Given the description of an element on the screen output the (x, y) to click on. 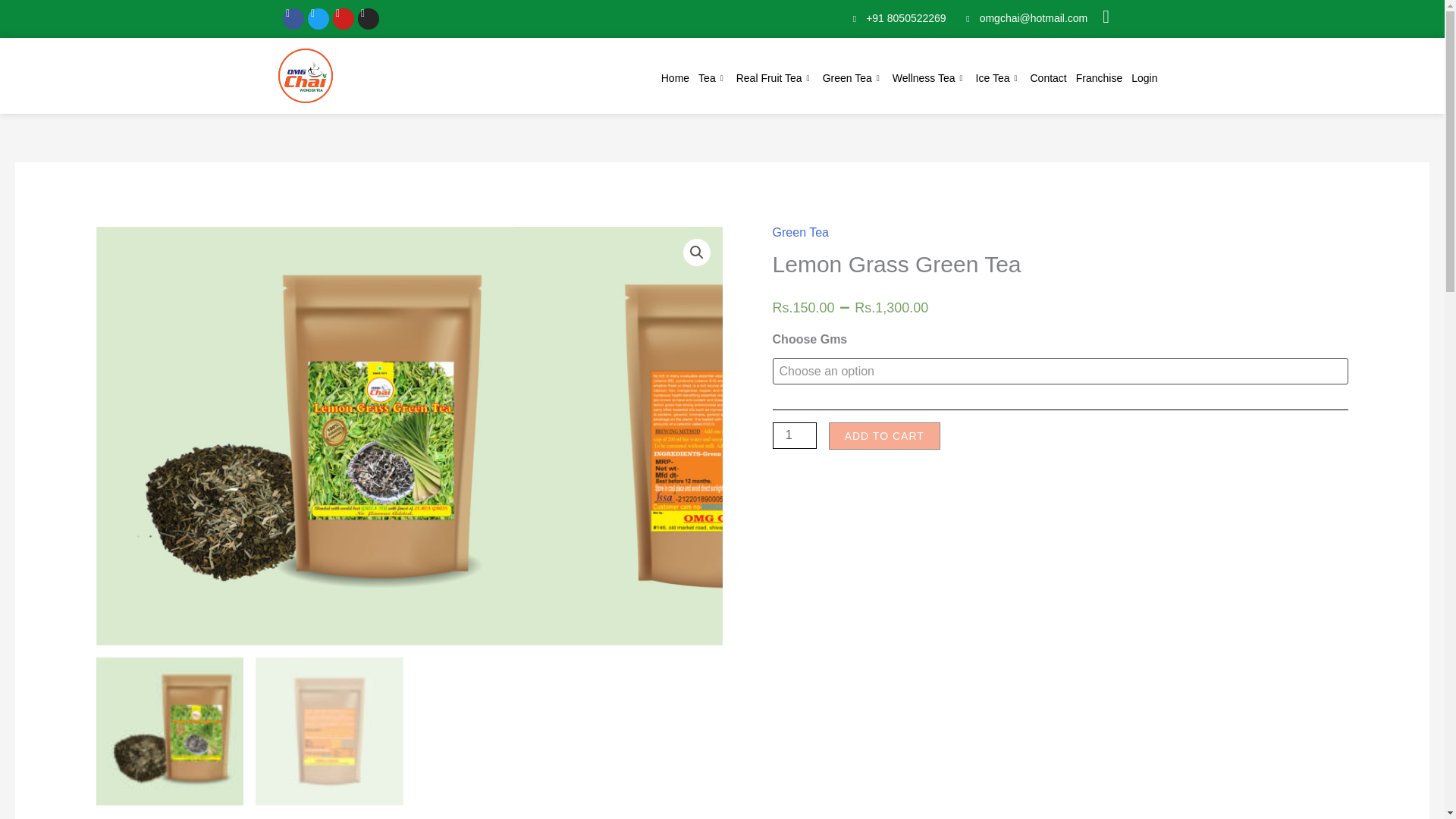
Facebook (292, 18)
1 (794, 435)
Green Tea (853, 78)
Home (675, 78)
Real Fruit Tea (775, 78)
Twitter (318, 18)
Qty (794, 435)
Youtube (342, 18)
Instagram (368, 18)
Tea (713, 78)
